Given the description of an element on the screen output the (x, y) to click on. 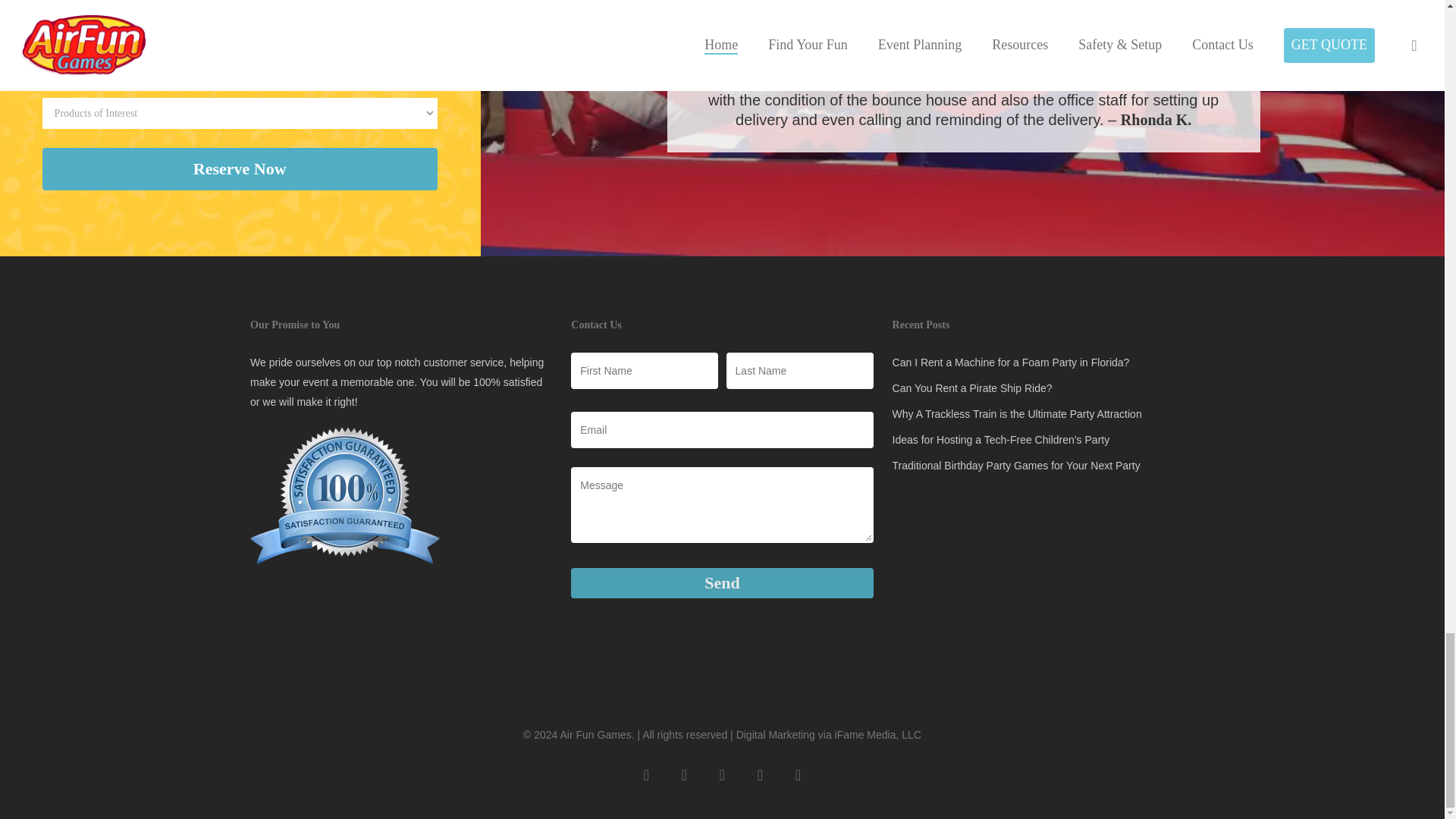
Reserve Now (240, 169)
Send (721, 583)
Email (721, 429)
